Given the description of an element on the screen output the (x, y) to click on. 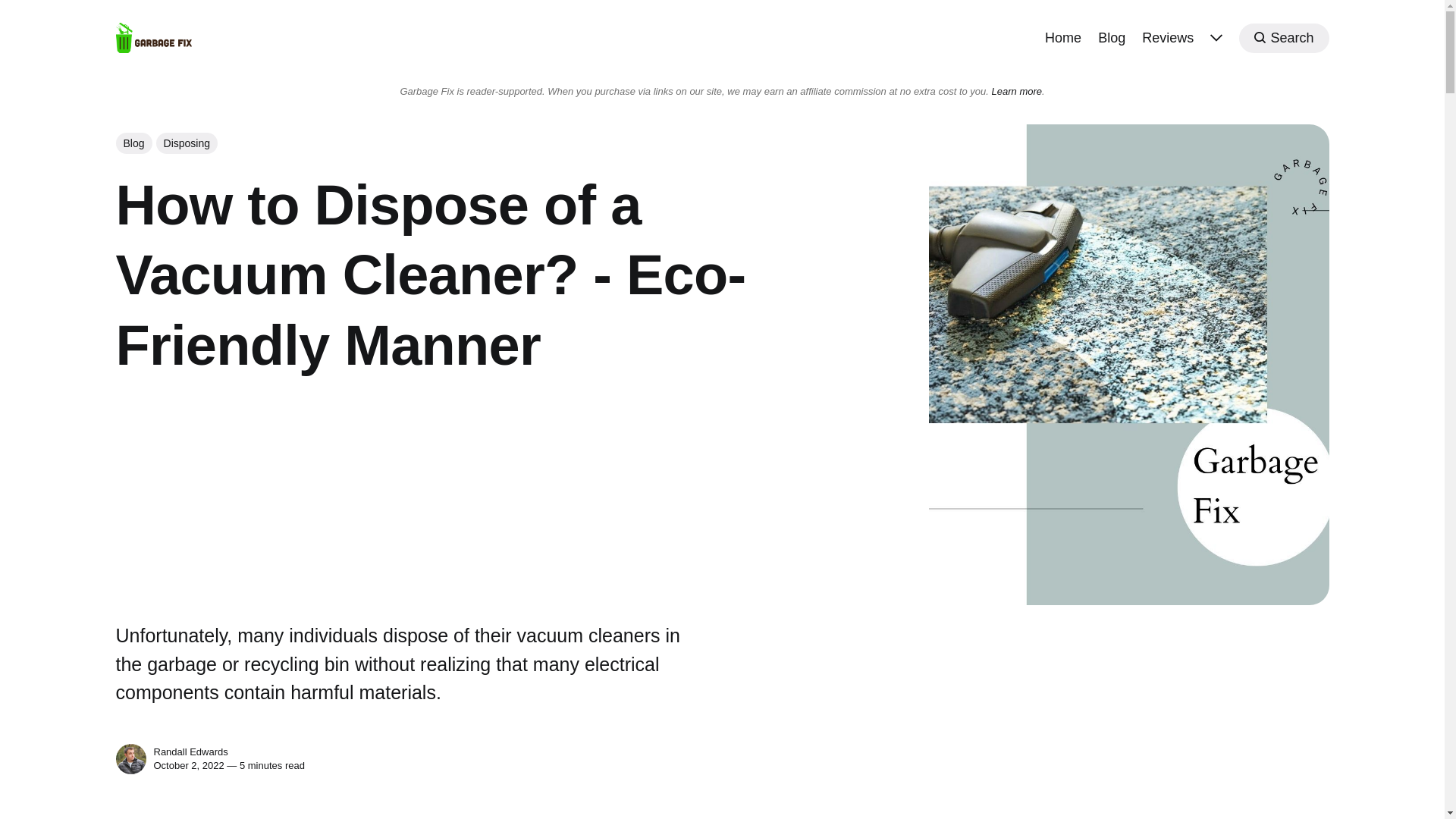
Blog (1111, 37)
Blog (133, 142)
Reviews (1167, 37)
Disposing (185, 142)
Home (1063, 37)
Randall Edwards (130, 758)
Randall Edwards (189, 751)
Learn more (1016, 91)
